Given the description of an element on the screen output the (x, y) to click on. 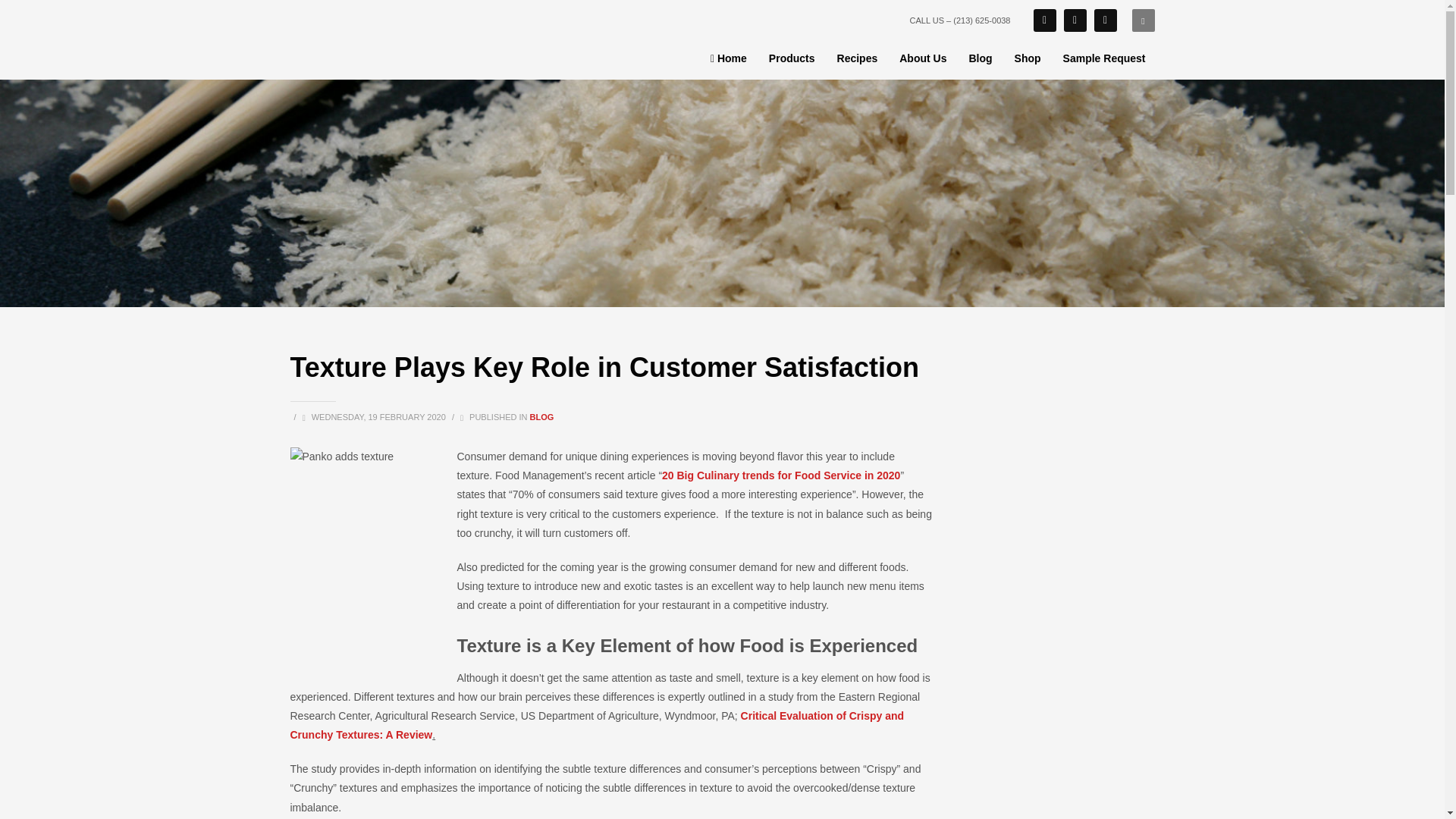
Facebook (1043, 20)
Instagram (1104, 20)
Products (792, 57)
Recipes (857, 57)
YouTube (1074, 20)
Shop (1027, 57)
Blog (980, 57)
About Us (922, 57)
Sample Request (1104, 57)
Home (728, 58)
